Given the description of an element on the screen output the (x, y) to click on. 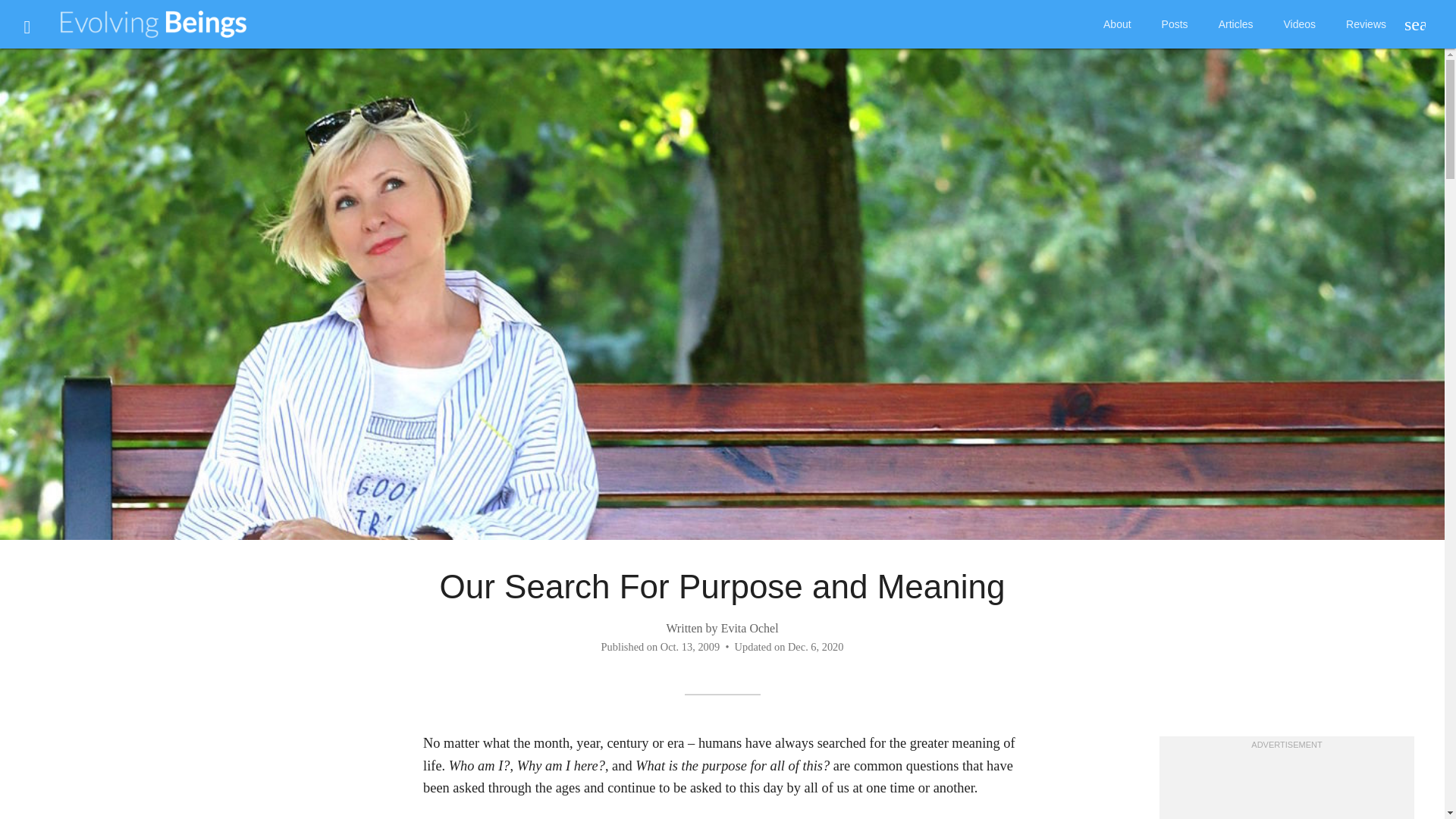
Posts (1175, 24)
Reviews (1365, 24)
search (1412, 24)
Evolving Beings (154, 23)
Articles (1236, 24)
About (1117, 24)
Videos (1300, 24)
